Given the description of an element on the screen output the (x, y) to click on. 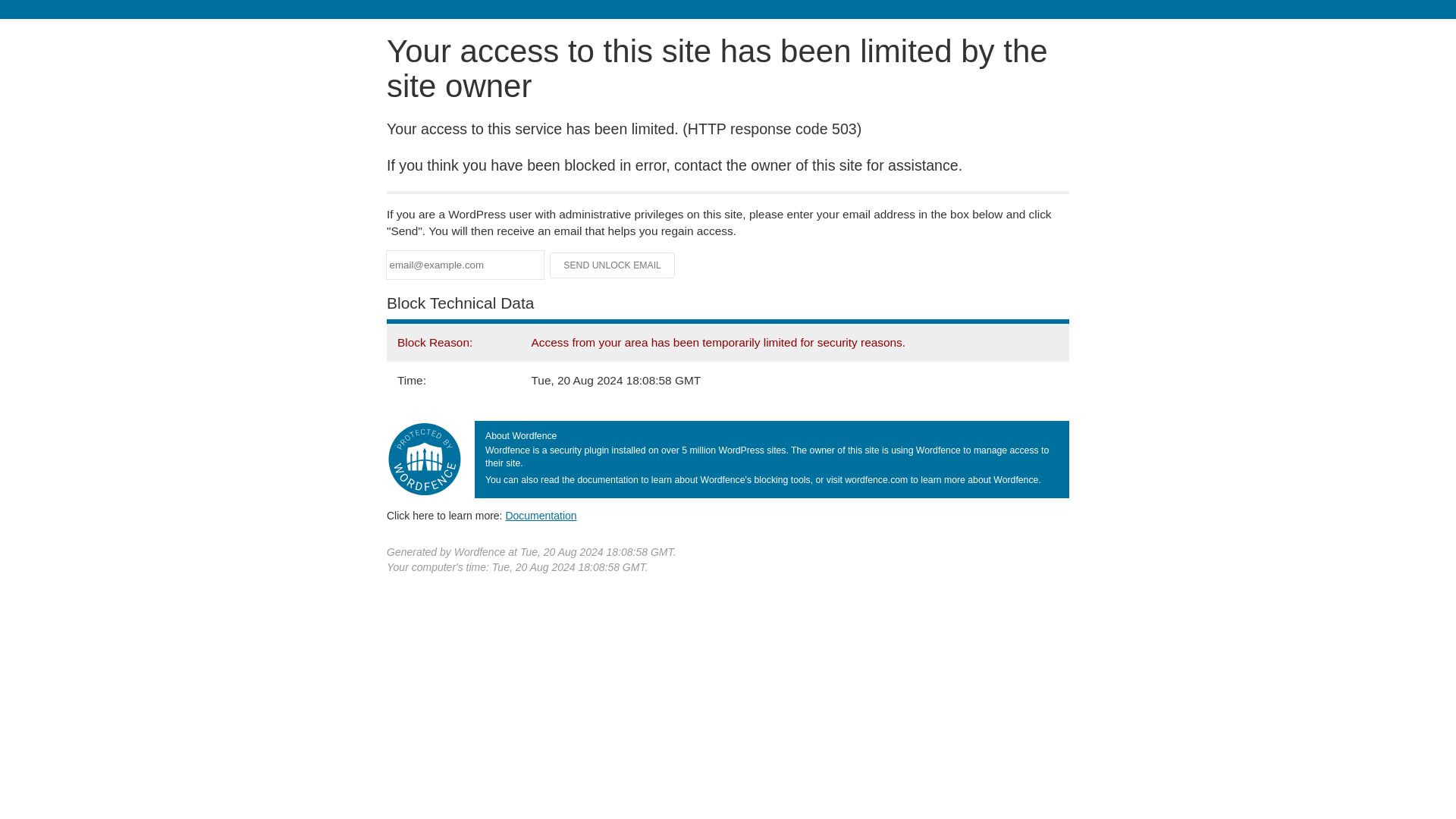
Send Unlock Email (612, 265)
Documentation (540, 515)
Send Unlock Email (612, 265)
